Given the description of an element on the screen output the (x, y) to click on. 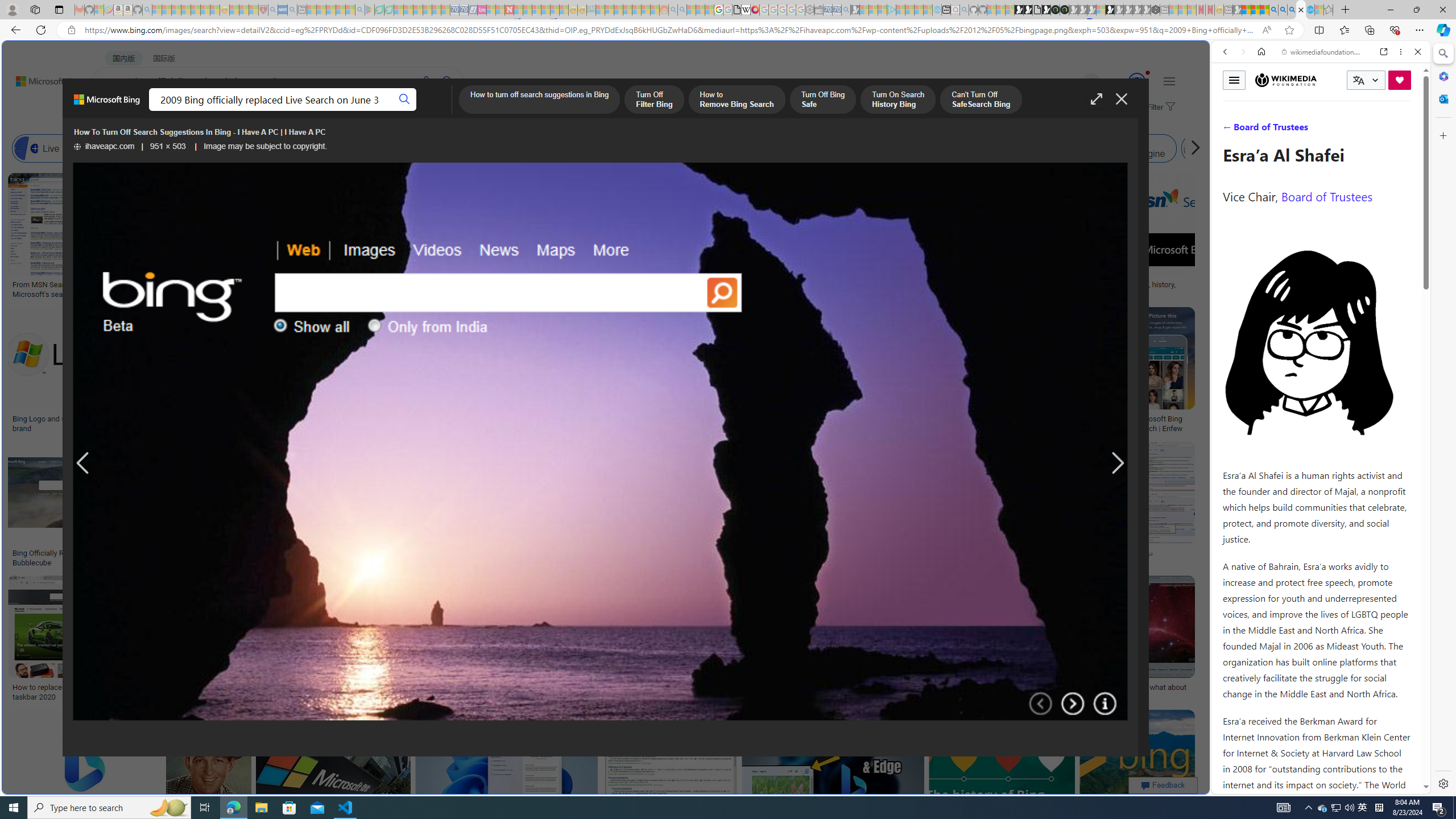
MediaWiki (754, 9)
Class: b_serphb (1404, 130)
Bing Logo and symbol, meaning, history, PNG, brand (97, 423)
Bing Voice Search (156, 148)
The Weather Channel - MSN - Sleeping (175, 9)
MSN - Sleeping (1236, 9)
SEARCH TOOLS (1350, 130)
Open link in new tab (1383, 51)
Microsoft Start Gaming - Sleeping (854, 9)
Bing - SEOLend (278, 552)
